Given the description of an element on the screen output the (x, y) to click on. 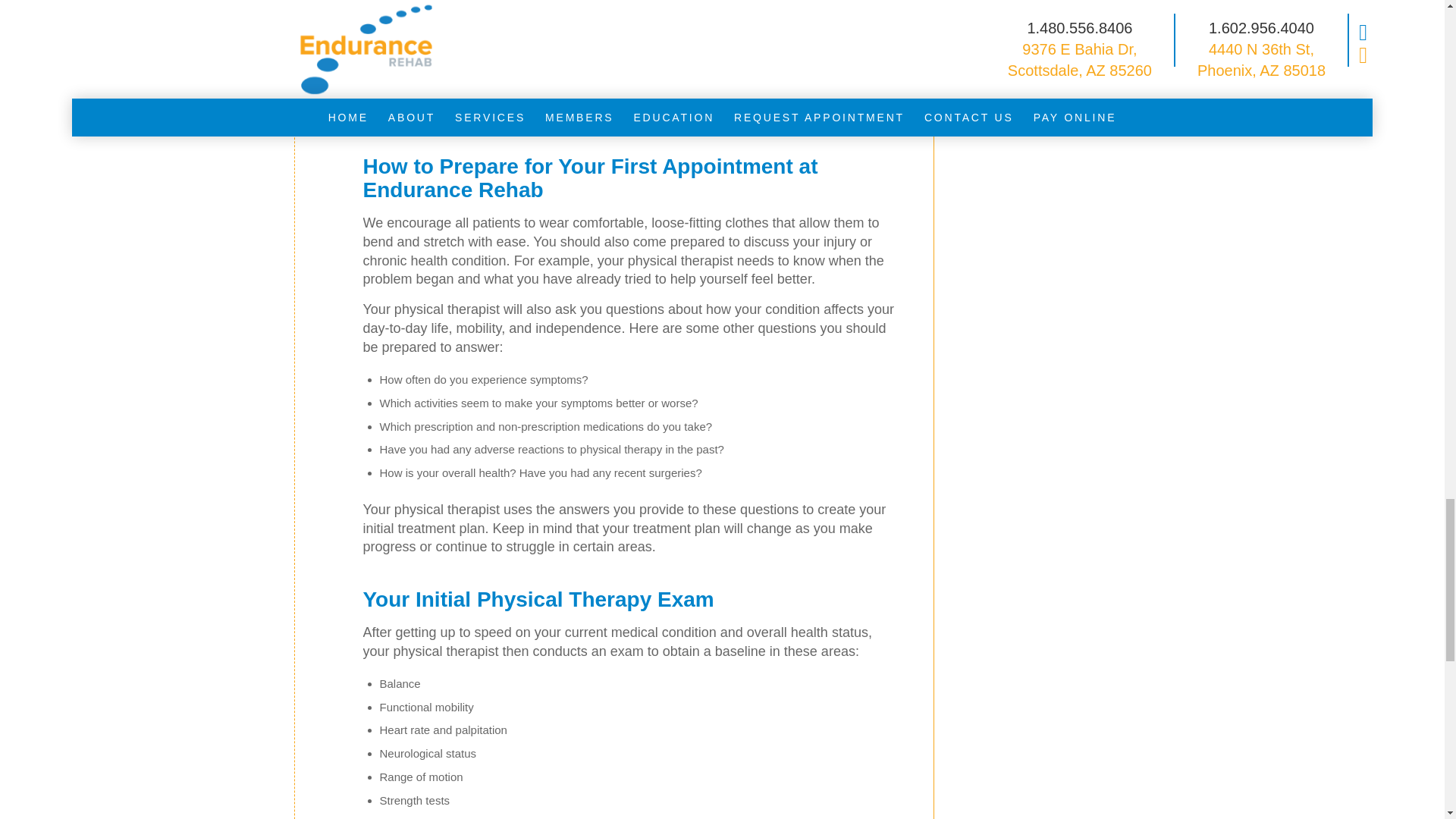
What to Expect at Your First Physical Therapy Appointment (293, 27)
Posts by Endurance Rehabilitation (649, 20)
